Given the description of an element on the screen output the (x, y) to click on. 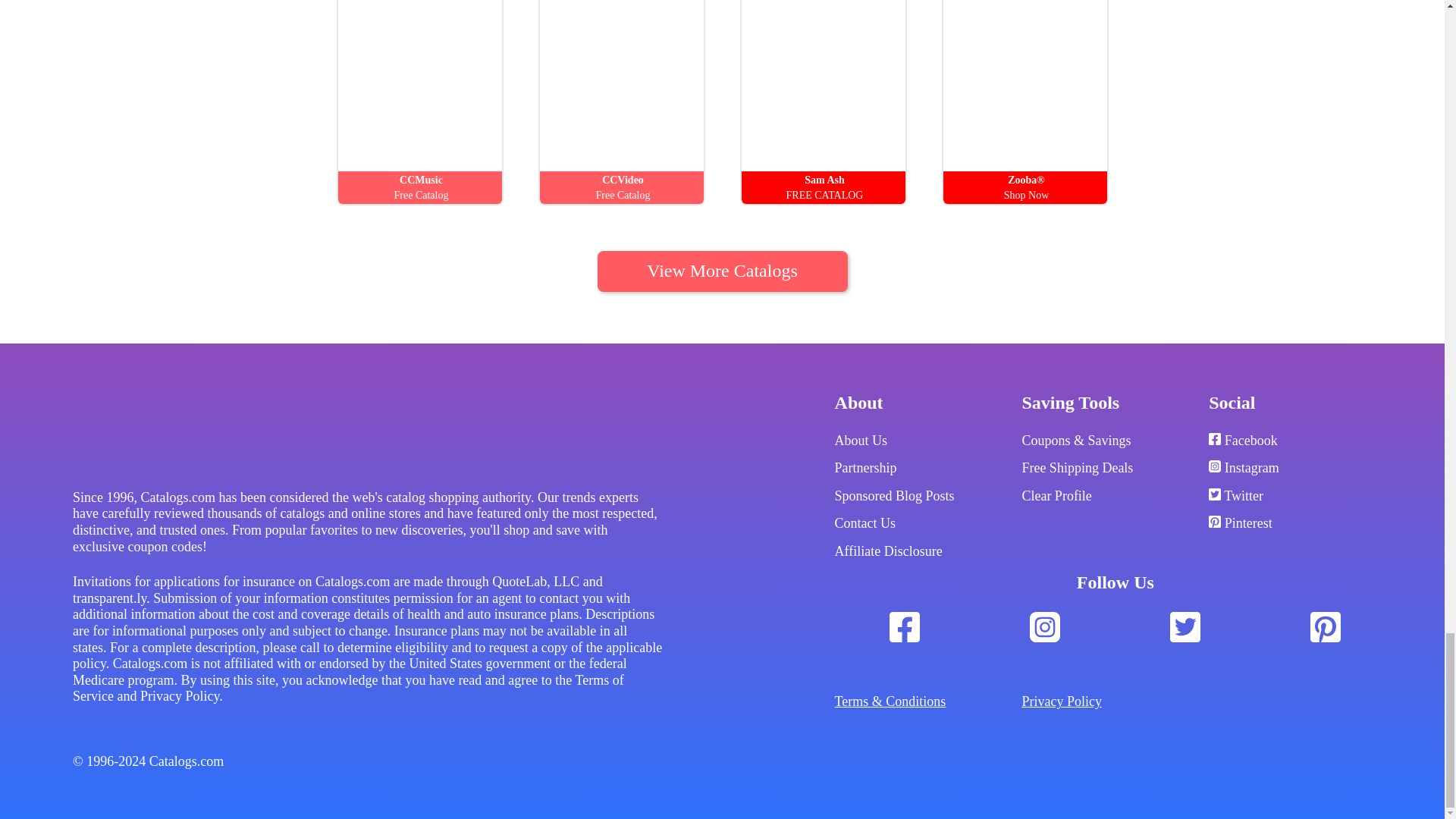
Order Free Catalogs from CCMusic (421, 85)
Order Free Catalogs from Sam Ash (824, 85)
Order Free Catalogs from CCVideo (623, 85)
